Given the description of an element on the screen output the (x, y) to click on. 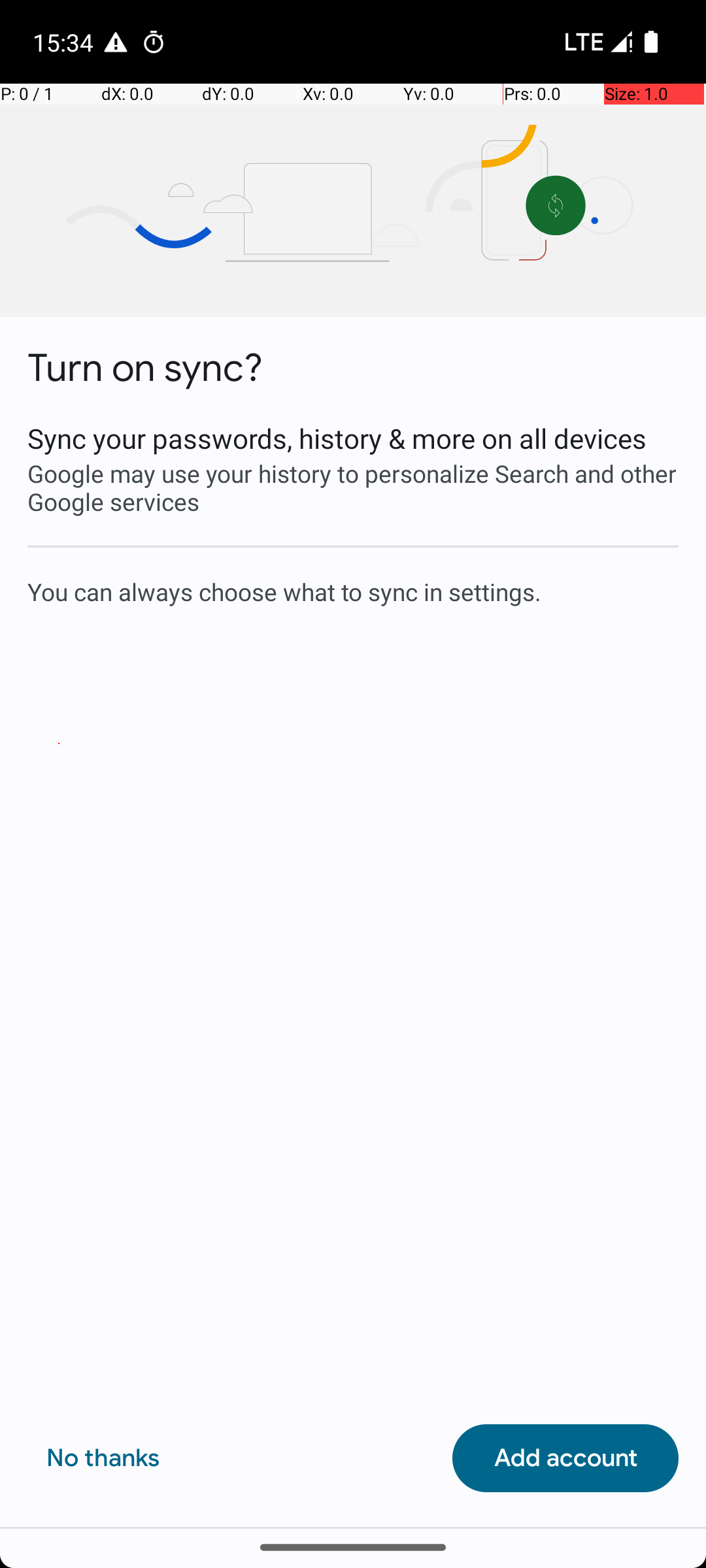
No thanks Element type: android.widget.Button (102, 1458)
Add account Element type: android.widget.Button (565, 1458)
Turn on sync? Element type: android.widget.TextView (144, 368)
Sync your passwords, history & more on all devices Element type: android.widget.TextView (352, 437)
Google may use your history to personalize Search and other Google services Element type: android.widget.TextView (352, 487)
You can always choose what to sync in settings. Element type: android.widget.TextView (352, 591)
